Given the description of an element on the screen output the (x, y) to click on. 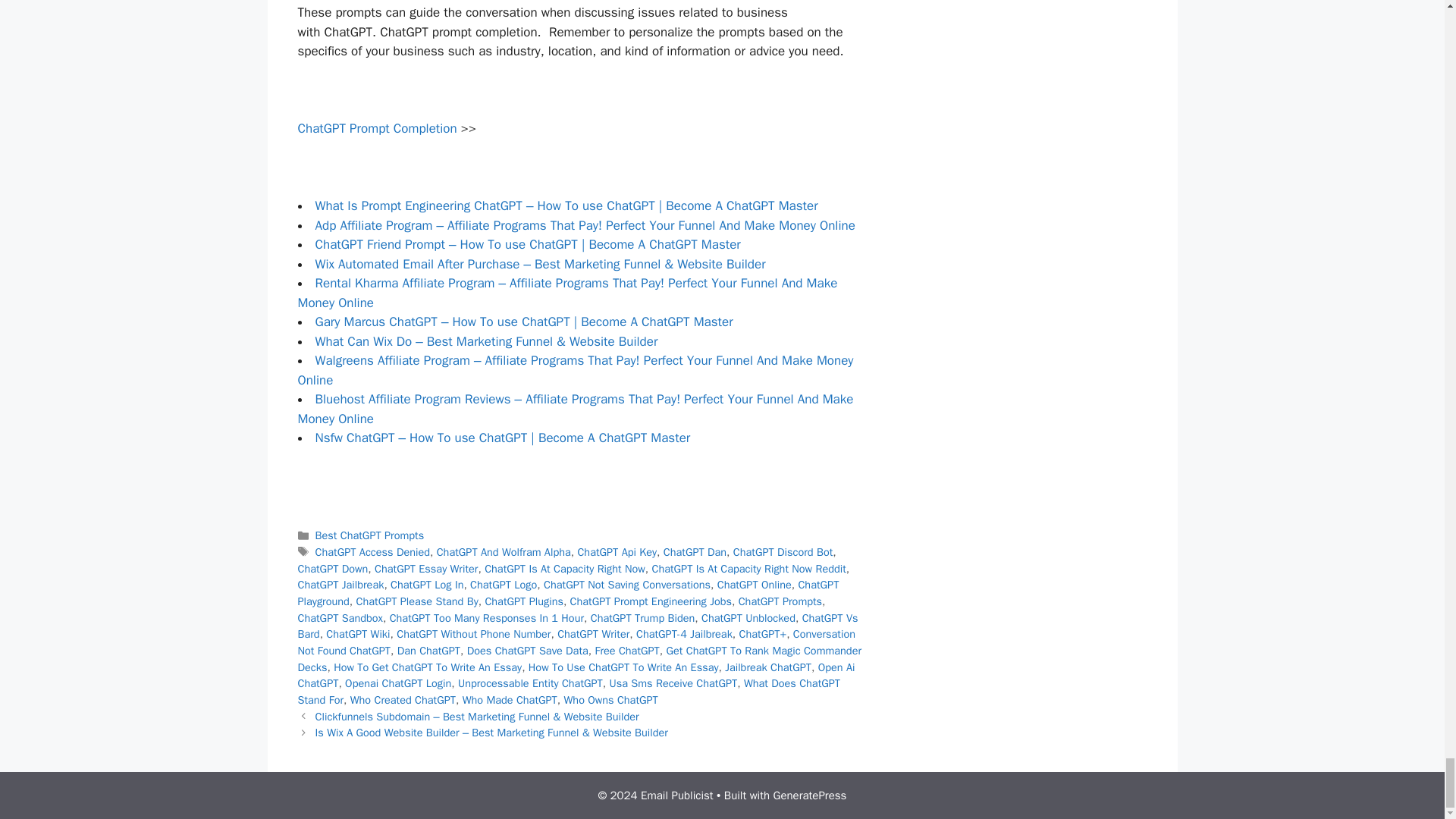
ChatGPT Prompt Completion (377, 128)
ChatGPT Dan (694, 551)
ChatGPT Access Denied (372, 551)
Best ChatGPT Prompts (370, 535)
ChatGPT And Wolfram Alpha (503, 551)
ChatGPT Api Key (616, 551)
ChatGPT Discord Bot (782, 551)
